Given the description of an element on the screen output the (x, y) to click on. 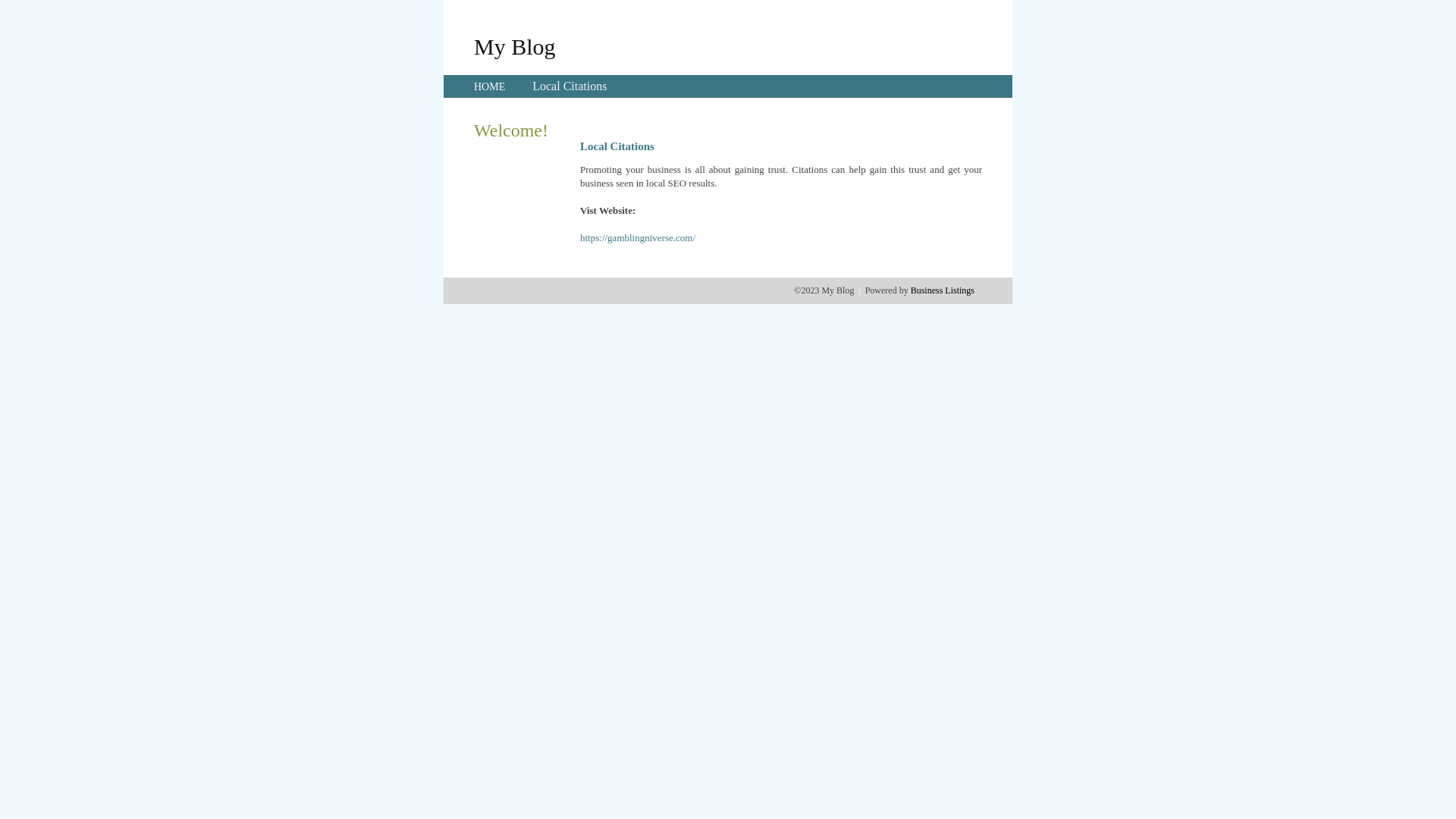
HOME Element type: text (489, 86)
https://gamblingniverse.com/ Element type: text (637, 237)
My Blog Element type: text (514, 46)
Business Listings Element type: text (942, 290)
Local Citations Element type: text (569, 85)
